Given the description of an element on the screen output the (x, y) to click on. 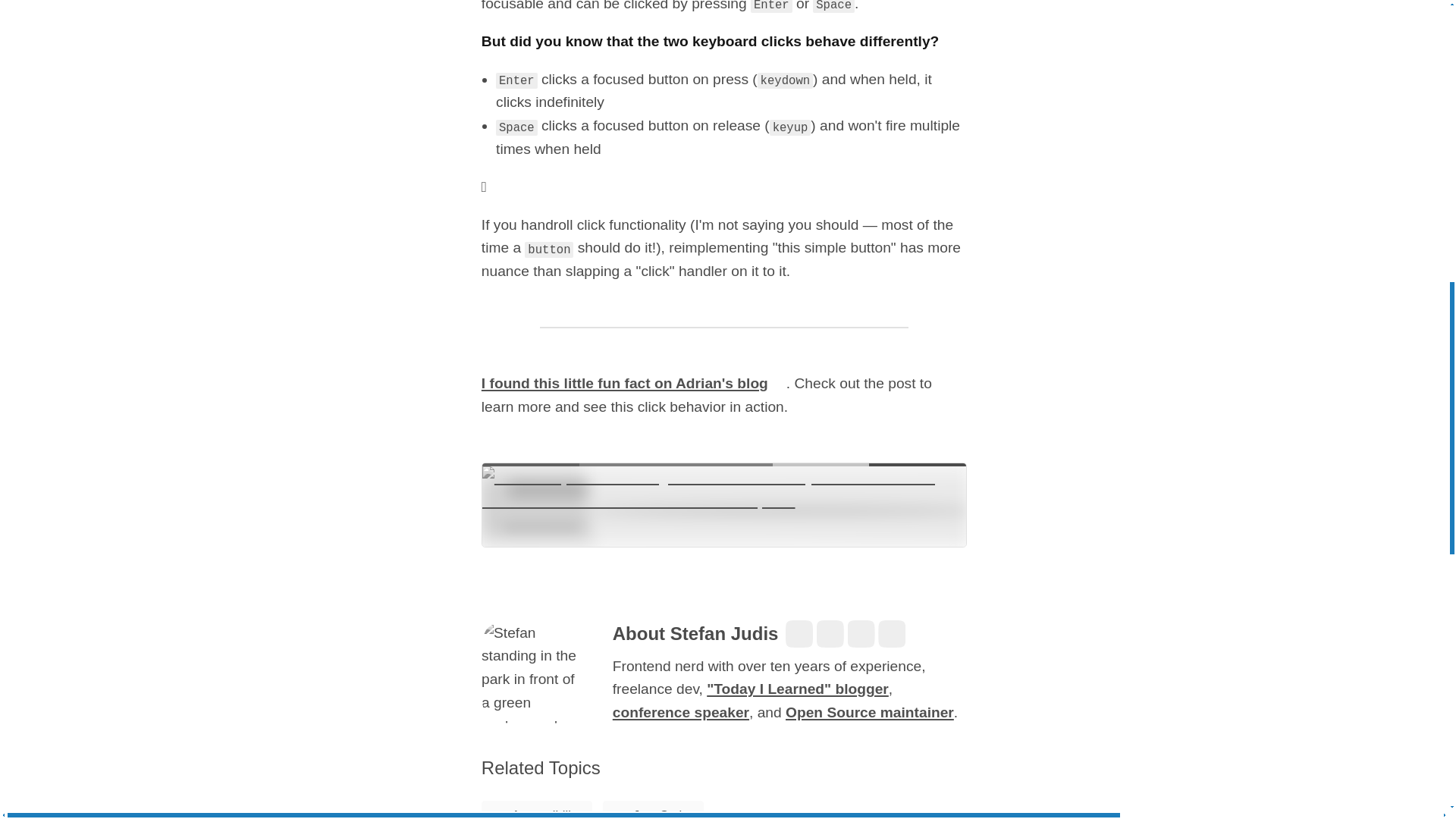
"Today I Learned" blogger (797, 688)
I found this little fun fact on Adrian's blog (633, 383)
Accessibility (536, 809)
JavaScript (652, 809)
Open Source maintainer (869, 712)
conference speaker (680, 712)
